Given the description of an element on the screen output the (x, y) to click on. 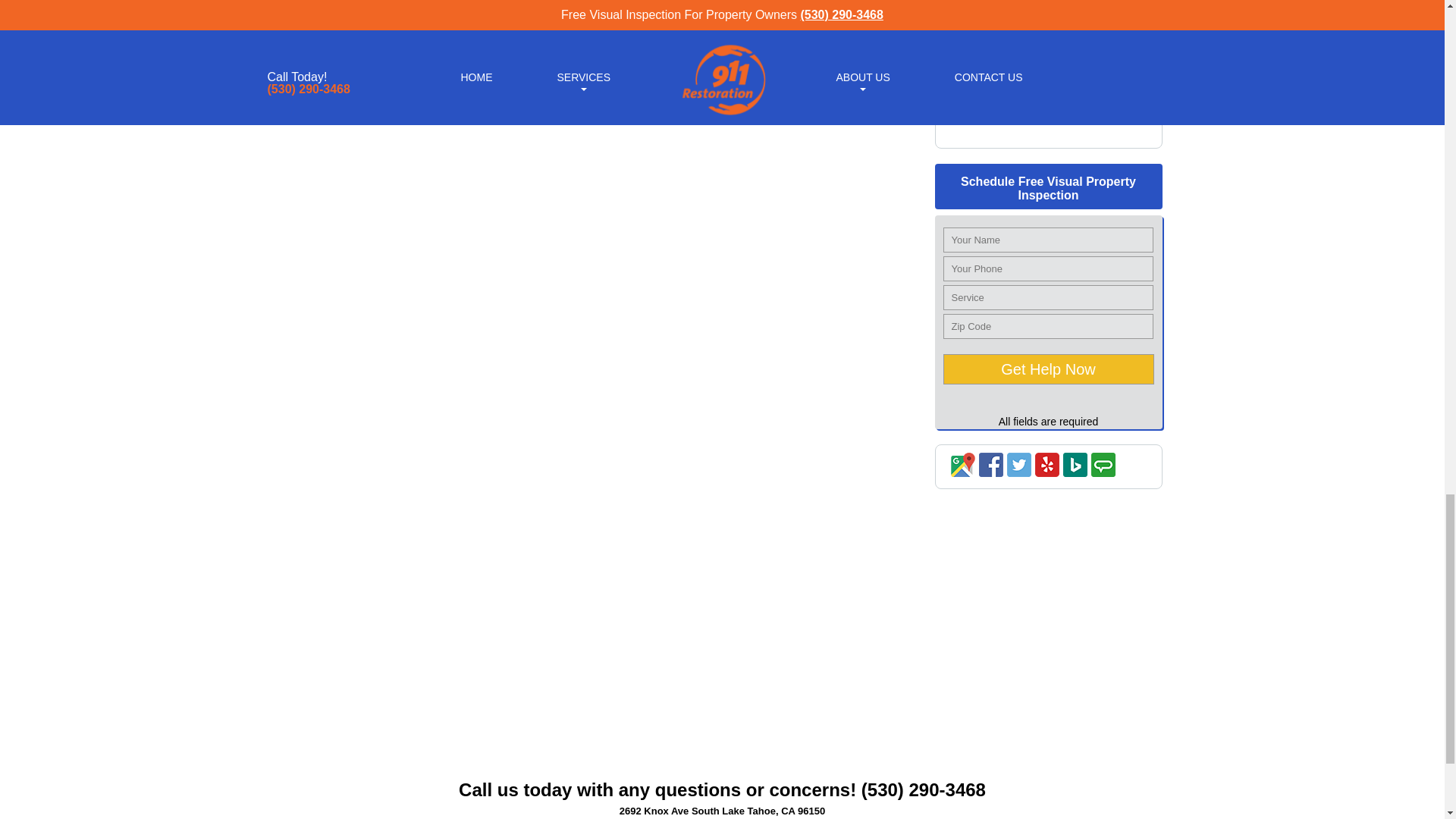
Get Help Now (1048, 368)
Service Area (1048, 133)
